Given the description of an element on the screen output the (x, y) to click on. 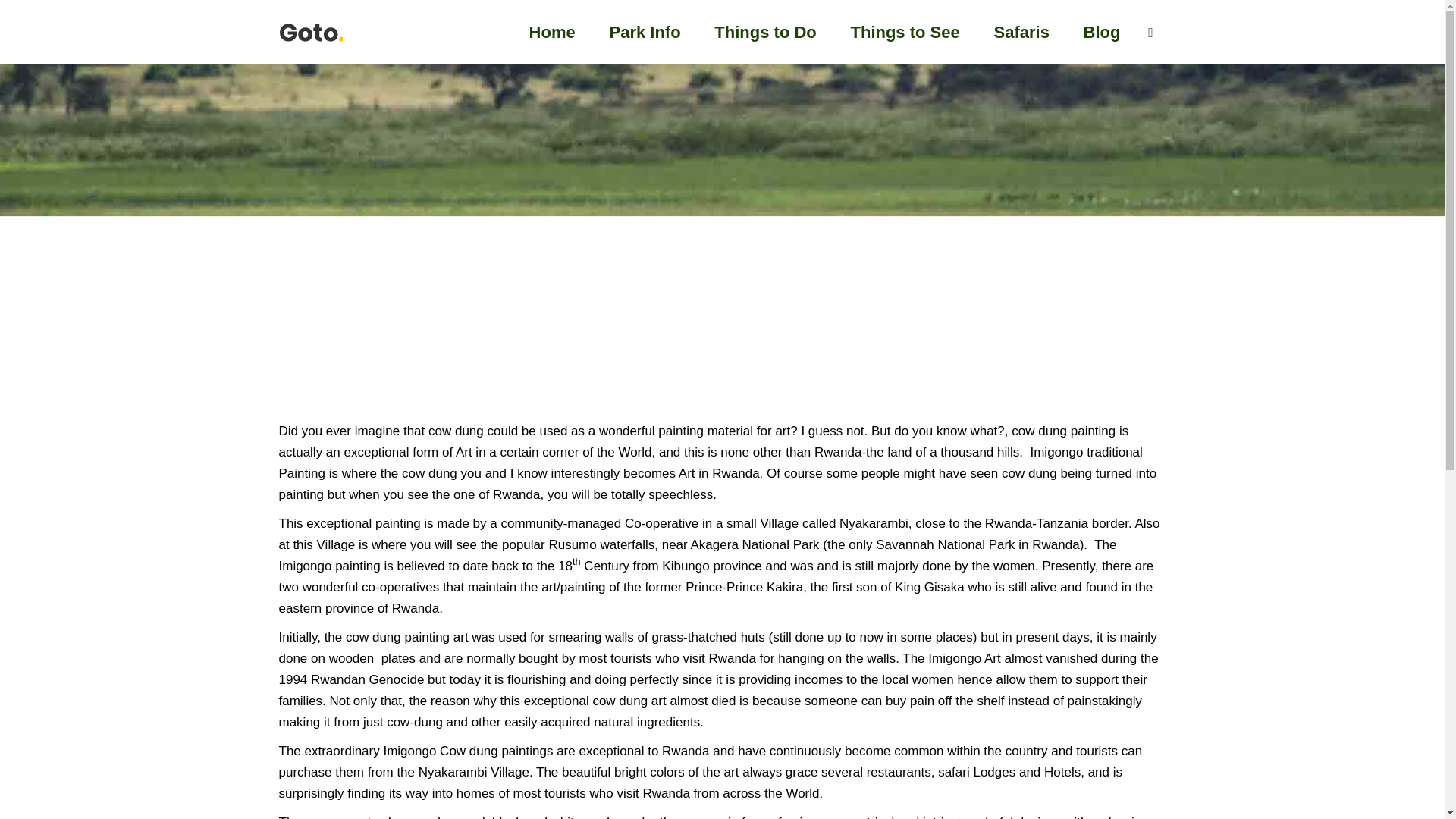
Home (628, 371)
Things to Do (764, 32)
Safaris (1021, 32)
Imigongo Art (797, 371)
Things to See (905, 32)
Blog (1101, 32)
Park Info (644, 32)
Home (552, 32)
Things to See (704, 371)
